Given the description of an element on the screen output the (x, y) to click on. 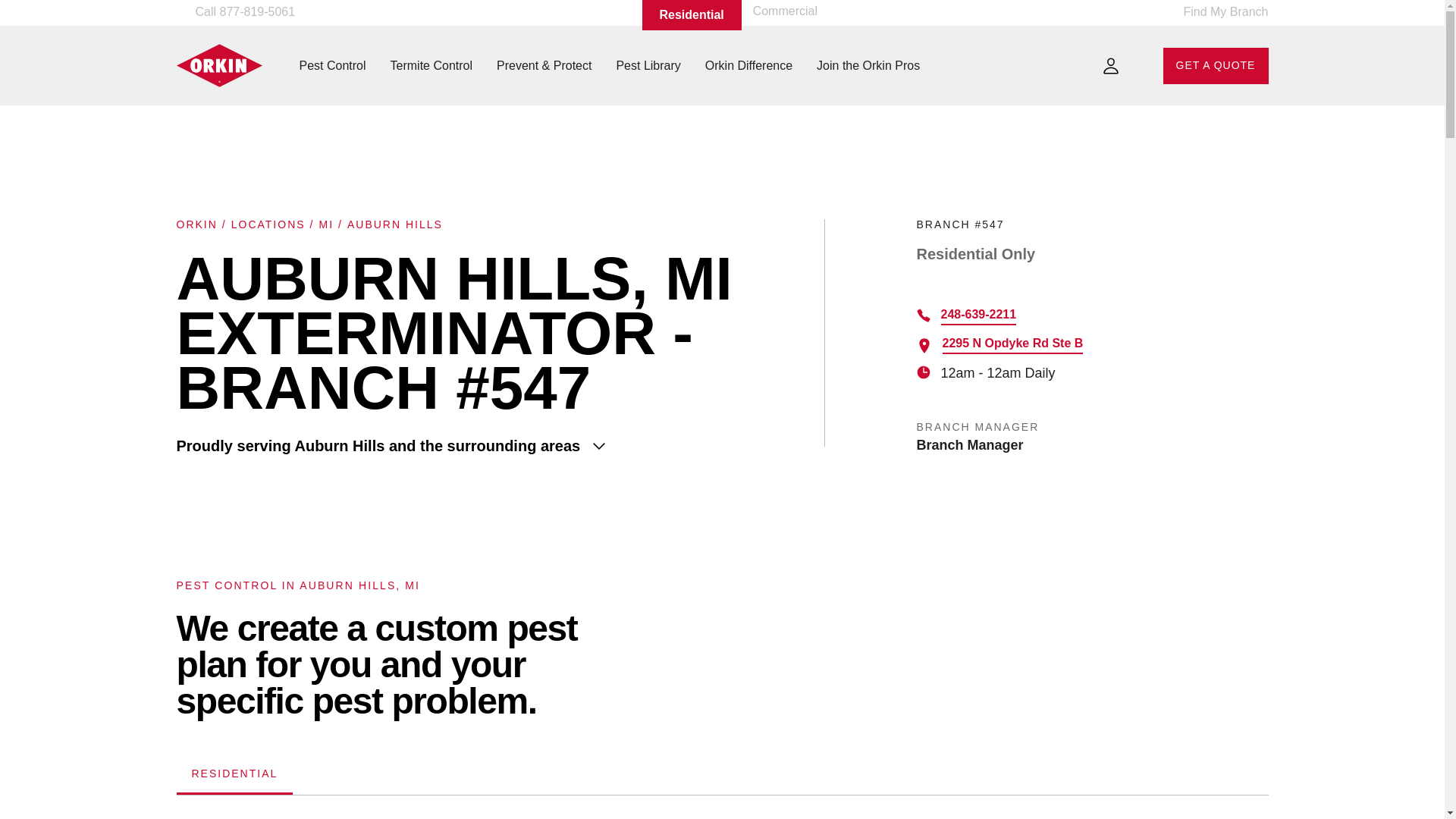
Find My Branch (1215, 15)
Commercial (784, 10)
248-639-2211 (978, 316)
Call 877-819-5061 (241, 12)
Join the Orkin Pros (868, 65)
RESIDENTIAL (234, 774)
Orkin Difference (748, 65)
Proudly serving Auburn Hills and the surrounding areas (490, 445)
ORKIN (196, 224)
Termite Control (430, 65)
2295 N Opdyke Rd Ste B (1012, 344)
LOCATIONS (268, 224)
Residential (691, 15)
AUBURN HILLS (394, 224)
MI (325, 224)
